Given the description of an element on the screen output the (x, y) to click on. 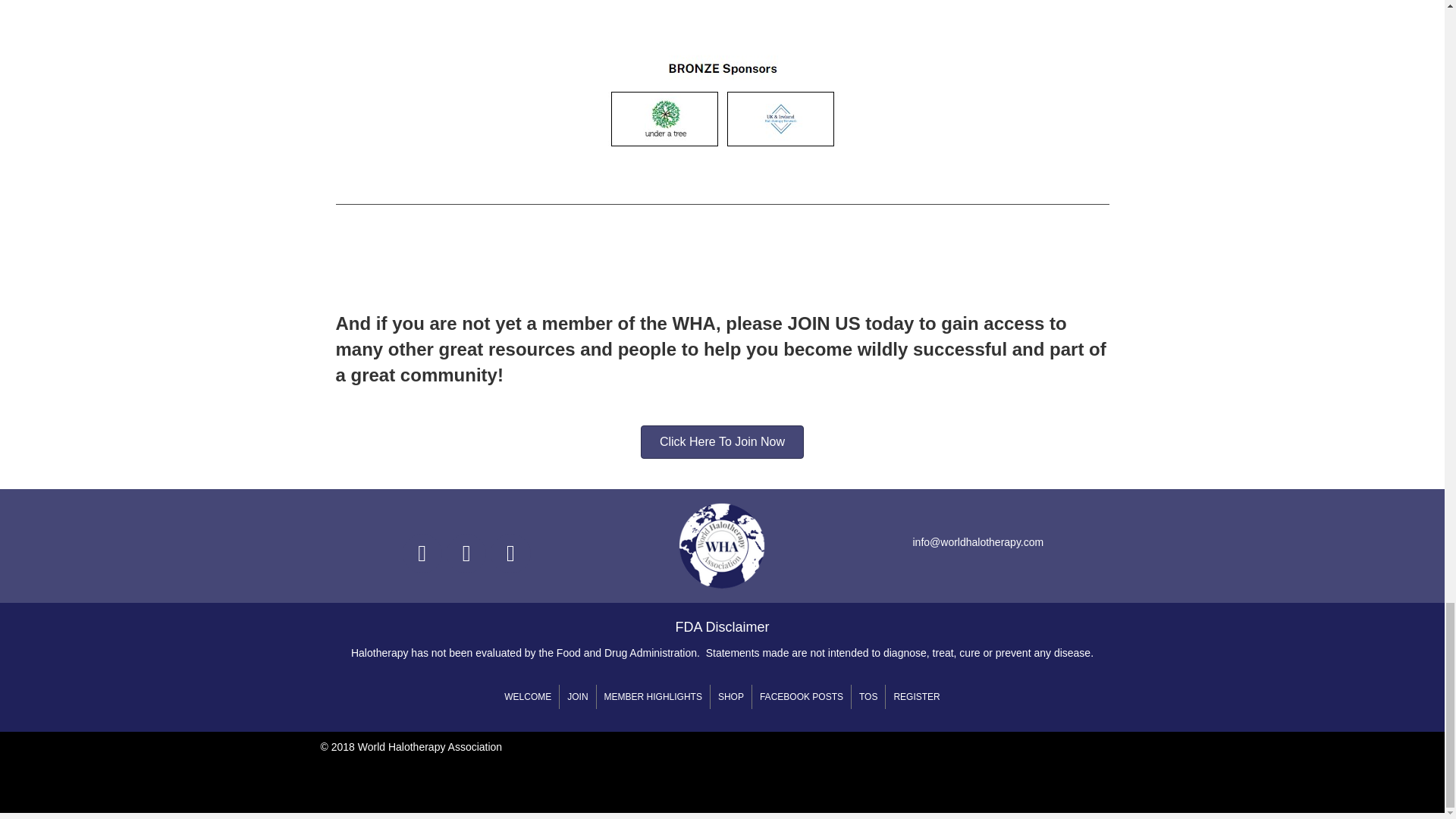
Screenshot 2022-11-09 110254 (722, 79)
Click Here To Join Now (721, 441)
